Given the description of an element on the screen output the (x, y) to click on. 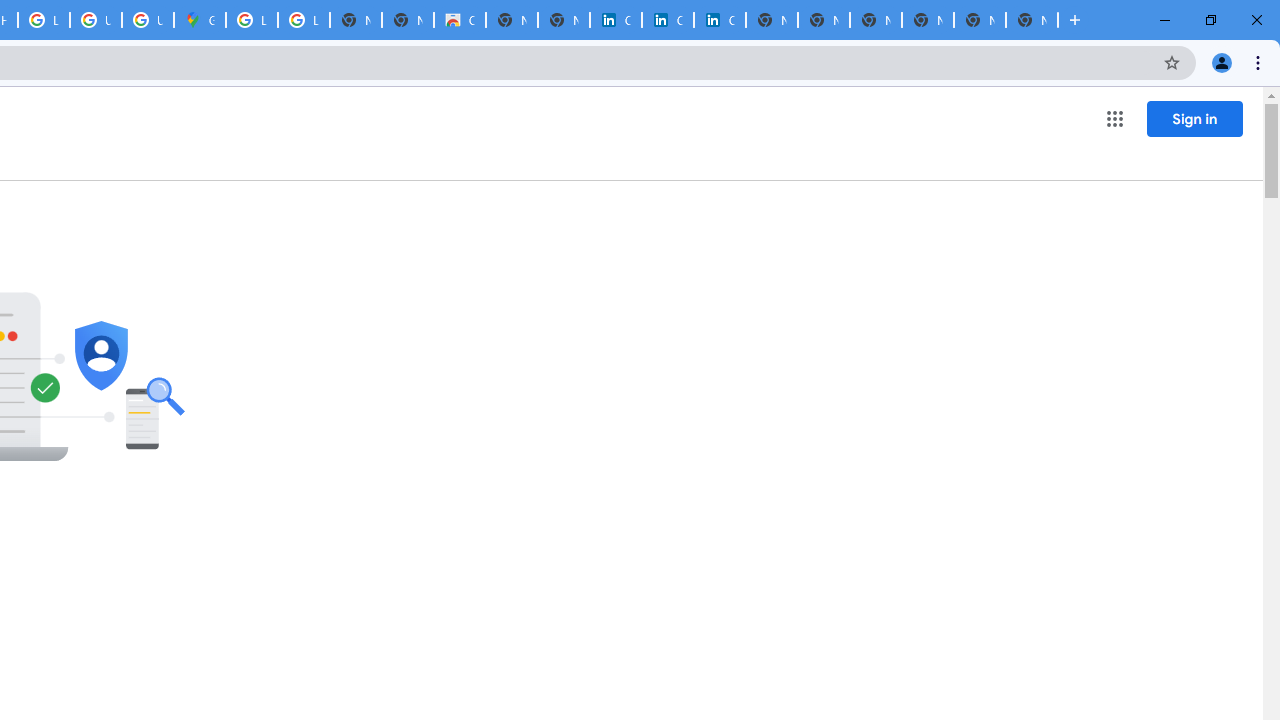
New Tab (1032, 20)
Cookie Policy | LinkedIn (667, 20)
Google Maps (200, 20)
Copyright Policy (719, 20)
New Tab (927, 20)
